Given the description of an element on the screen output the (x, y) to click on. 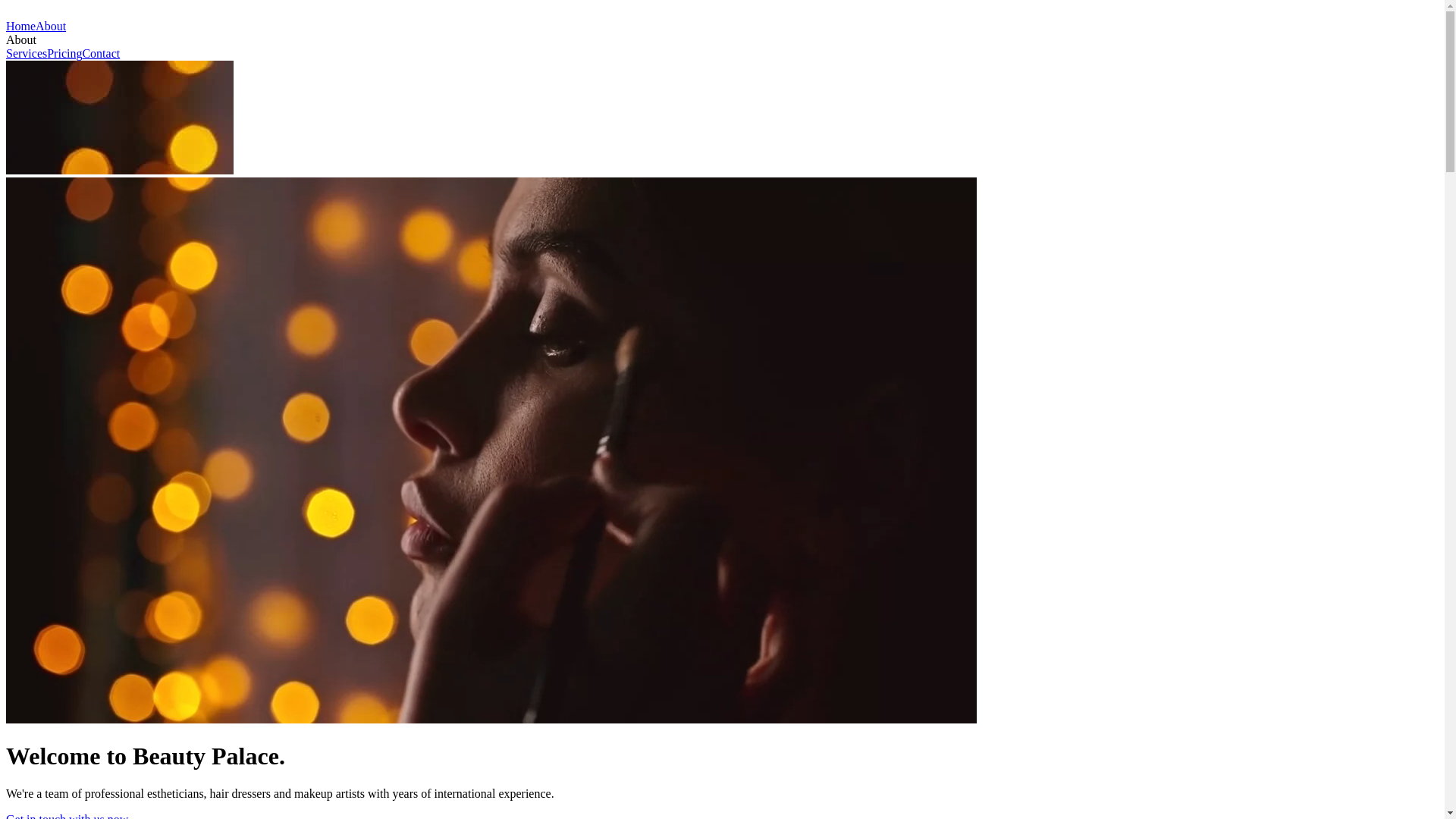
Services Element type: text (26, 53)
About Element type: text (50, 25)
Contact Element type: text (100, 53)
Home Element type: text (20, 25)
Pricing Element type: text (64, 53)
